Given the description of an element on the screen output the (x, y) to click on. 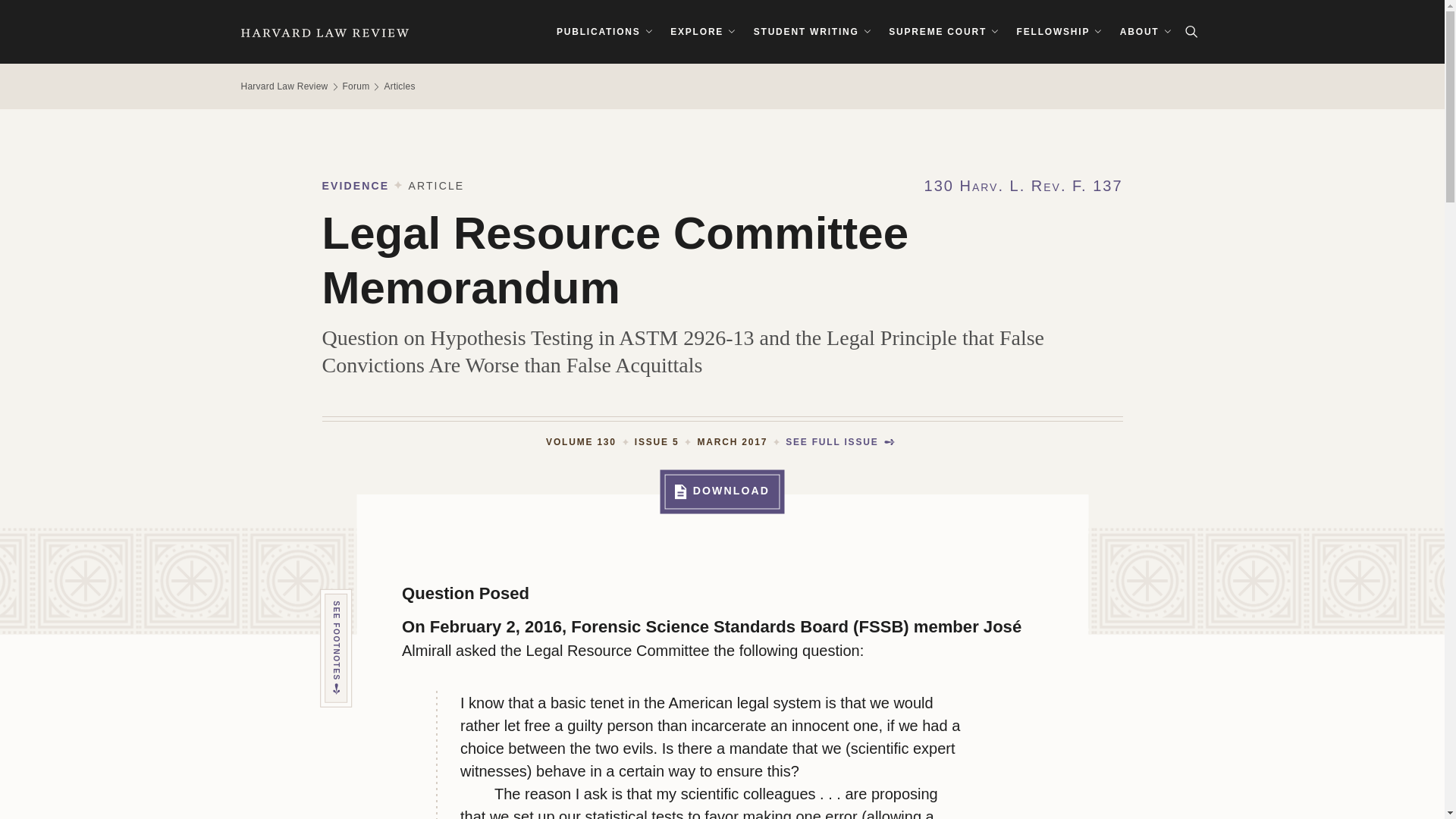
EXPLORE (702, 31)
Articles (399, 85)
FELLOWSHIP (1059, 31)
ABOUT (1145, 31)
STUDENT WRITING (811, 31)
PUBLICATIONS (604, 31)
SUPREME COURT (944, 31)
Search site (1190, 31)
Harvard Law Review (325, 31)
